Given the description of an element on the screen output the (x, y) to click on. 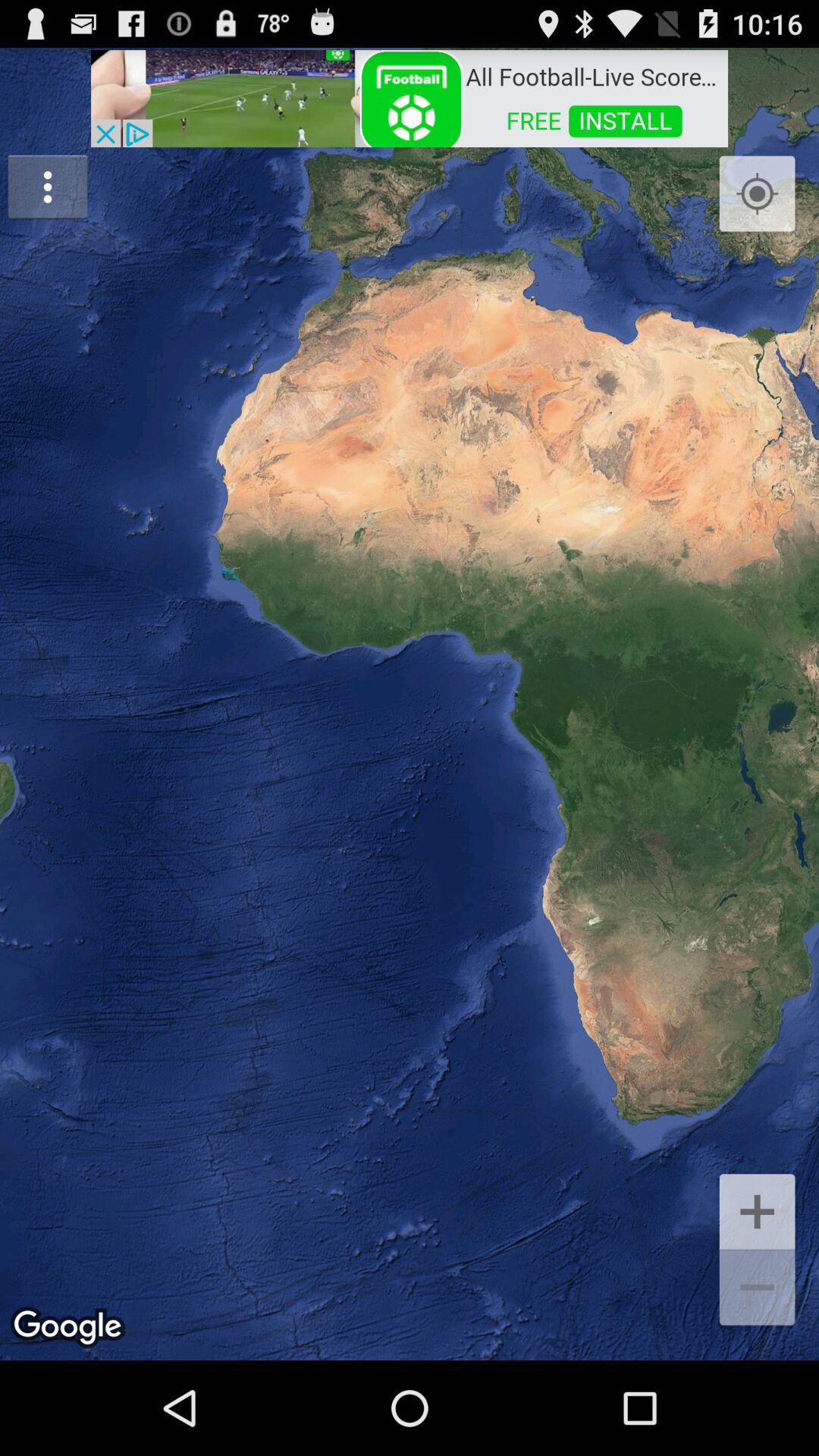
turn on item at the top (409, 97)
